Given the description of an element on the screen output the (x, y) to click on. 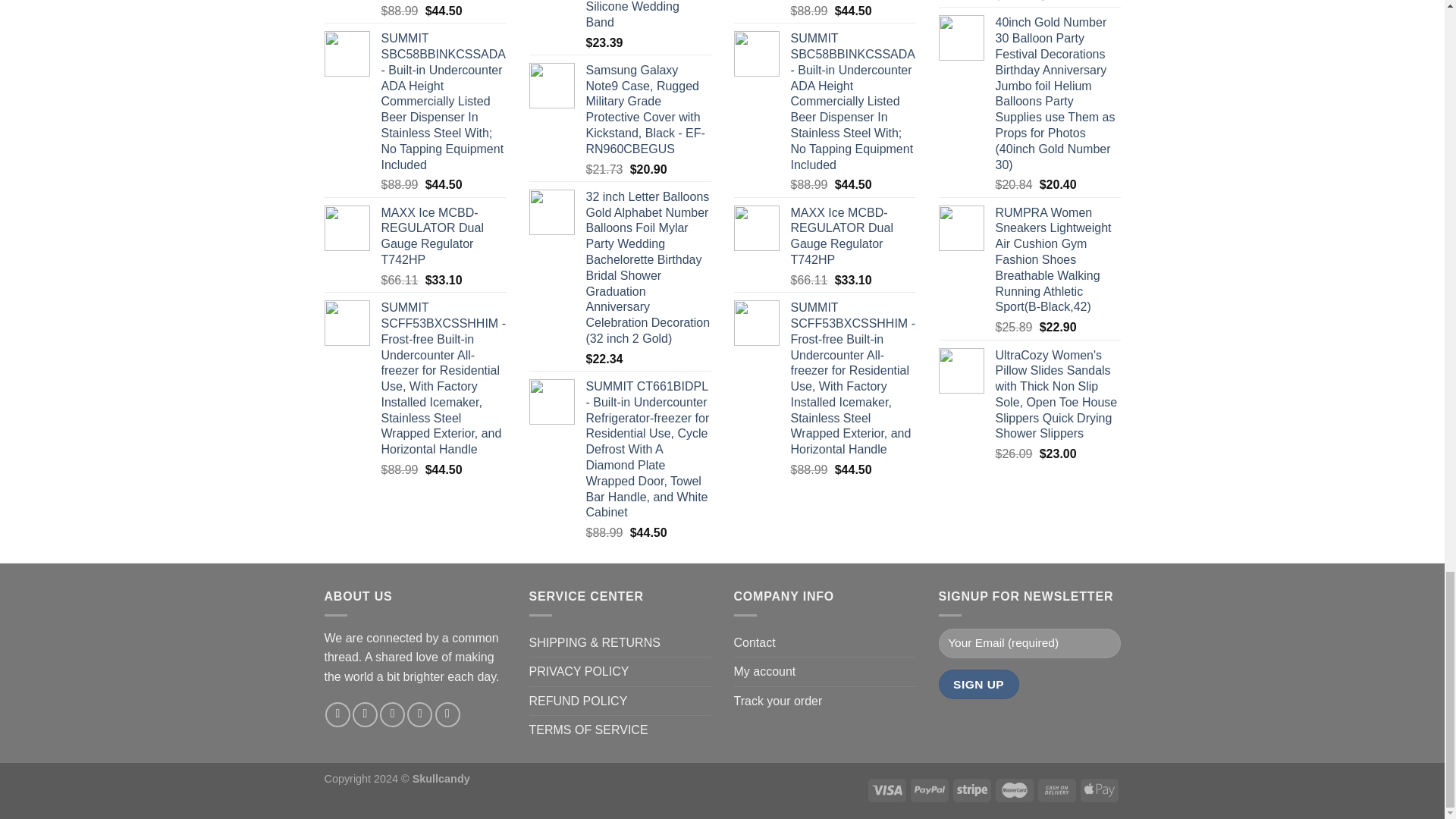
Sign Up (979, 684)
Follow on Instagram (364, 714)
Follow on Facebook (337, 714)
